Given the description of an element on the screen output the (x, y) to click on. 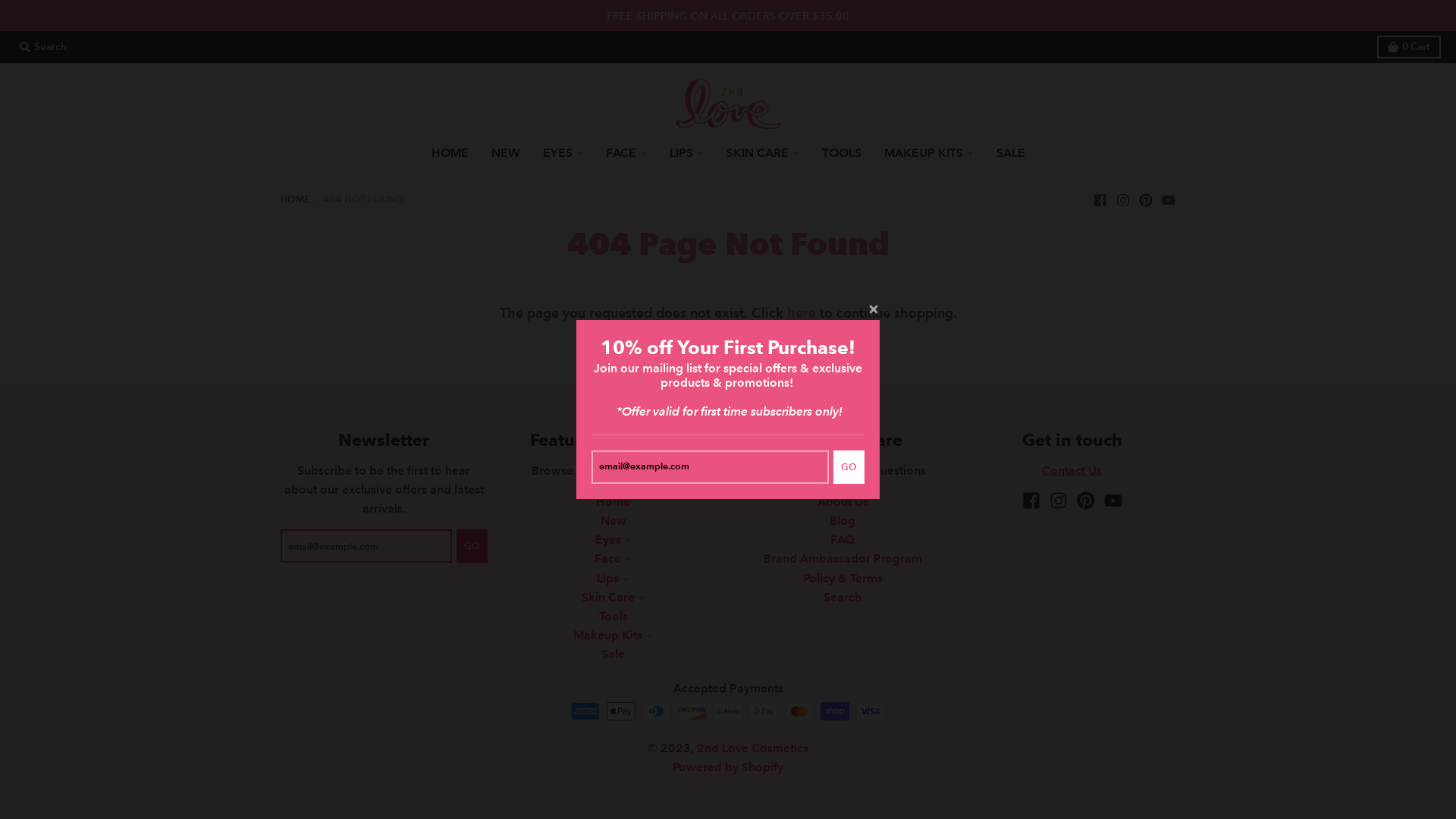
SALE Element type: text (1009, 152)
Home Element type: text (613, 501)
Skin Care Element type: text (613, 596)
SKIN CARE Element type: text (761, 152)
GO Element type: text (471, 545)
HOME Element type: text (295, 198)
EYES Element type: text (562, 152)
About Us Element type: text (842, 501)
here Element type: text (801, 312)
LIPS Element type: text (686, 152)
Powered by Shopify Element type: text (727, 766)
HOME Element type: text (449, 152)
YouTube - 2nd Love Cosmetics Element type: hover (1113, 500)
Makeup Kits Element type: text (612, 634)
0 Cart Element type: text (1408, 46)
Sale Element type: text (612, 653)
Instagram - 2nd Love Cosmetics Element type: hover (1058, 500)
New Element type: text (613, 520)
FACE Element type: text (626, 152)
Blog Element type: text (842, 520)
TOOLS Element type: text (840, 152)
Brand Ambassador Program Element type: text (842, 558)
Facebook - 2nd Love Cosmetics Element type: hover (1100, 198)
Instagram - 2nd Love Cosmetics Element type: hover (1122, 198)
Pinterest - 2nd Love Cosmetics Element type: hover (1145, 198)
Policy & Terms Element type: text (842, 578)
Search Element type: text (43, 46)
GO Element type: text (848, 466)
Tools Element type: text (613, 615)
Lips Element type: text (612, 578)
2nd Love Cosmetics Element type: text (752, 747)
Facebook - 2nd Love Cosmetics Element type: hover (1031, 500)
Contact Us Element type: text (1071, 470)
NEW Element type: text (504, 152)
Face Element type: text (612, 558)
FAQ Element type: text (842, 539)
Pinterest - 2nd Love Cosmetics Element type: hover (1085, 500)
YouTube - 2nd Love Cosmetics Element type: hover (1168, 198)
Eyes Element type: text (613, 539)
MAKEUP KITS Element type: text (927, 152)
Search Element type: text (842, 596)
